Given the description of an element on the screen output the (x, y) to click on. 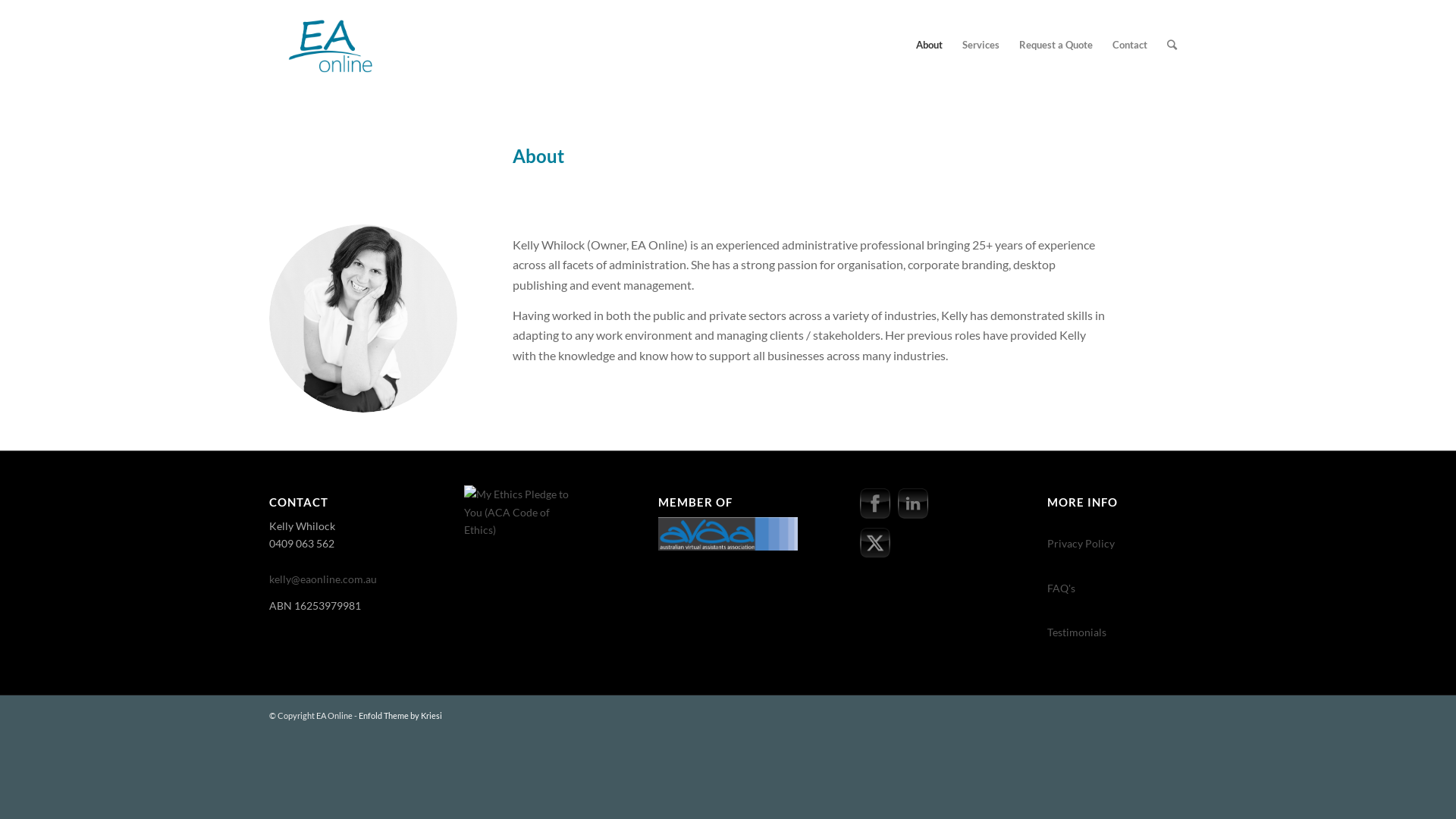
Testimonials Element type: text (1076, 640)
Click here to view our LinkedIn profile Element type: hover (912, 503)
Contact Element type: text (1129, 44)
Click here to view our Facebook page Element type: hover (874, 503)
FAQ's Element type: text (1061, 595)
Services Element type: text (980, 44)
kelly@eaonline.com.au Element type: text (322, 587)
About Element type: text (929, 44)
Enfold Theme by Kriesi Element type: text (400, 715)
Request a Quote Element type: text (1055, 44)
Privacy Policy Element type: text (1080, 551)
